Given the description of an element on the screen output the (x, y) to click on. 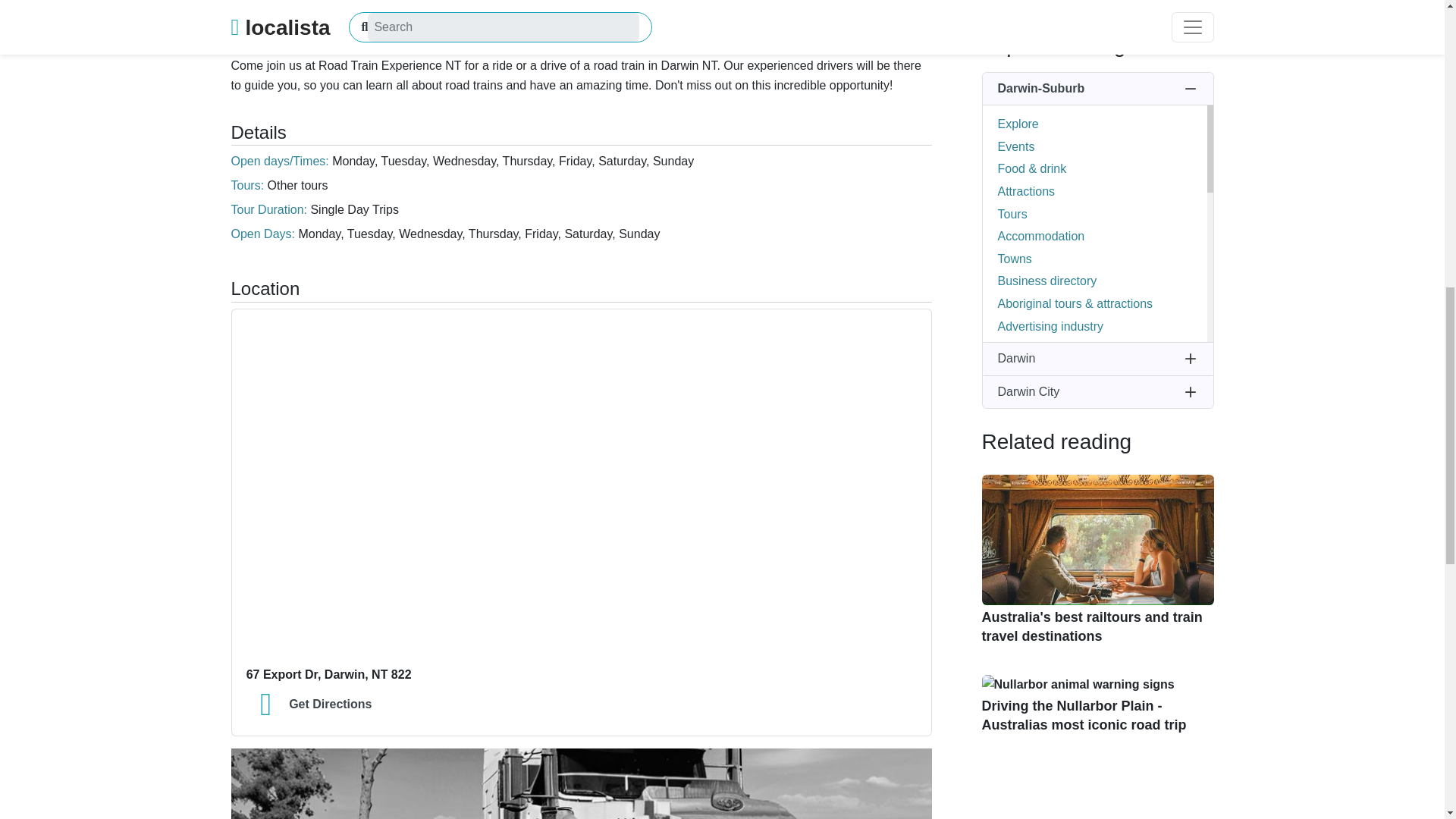
Get Directions (581, 705)
Explore (1018, 123)
Darwin-Suburb (1097, 88)
